Given the description of an element on the screen output the (x, y) to click on. 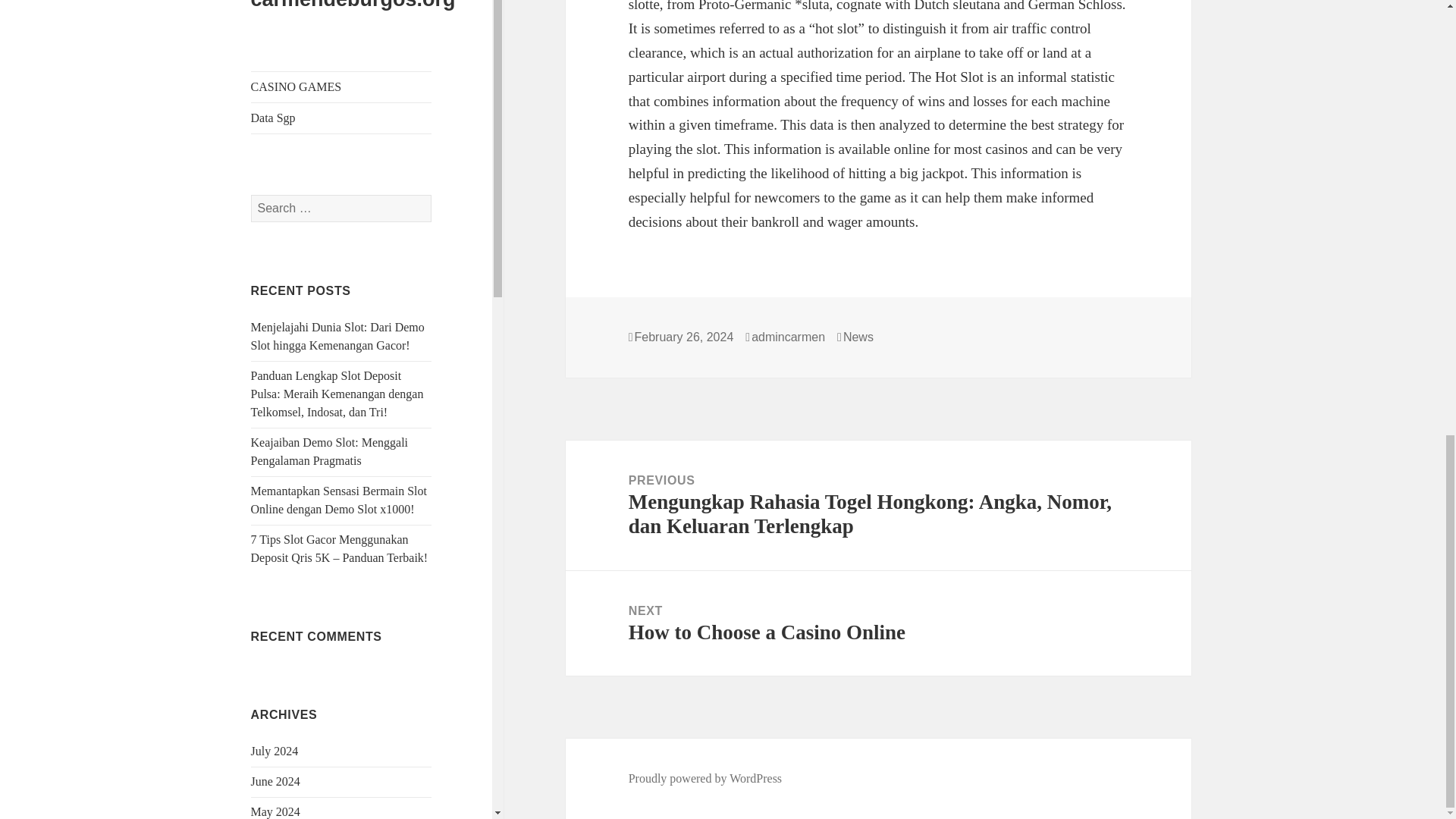
July 2023 (274, 254)
May 2023 (274, 315)
December 2022 (289, 467)
October 2022 (283, 527)
March 2023 (280, 376)
January 2024 (282, 72)
March 2022 (280, 739)
February 2024 (285, 42)
October 2023 (283, 164)
May 2022 (274, 679)
April 2022 (277, 709)
November 2022 (290, 497)
August 2022 (281, 588)
June 2023 (274, 285)
July 2022 (274, 618)
